Given the description of an element on the screen output the (x, y) to click on. 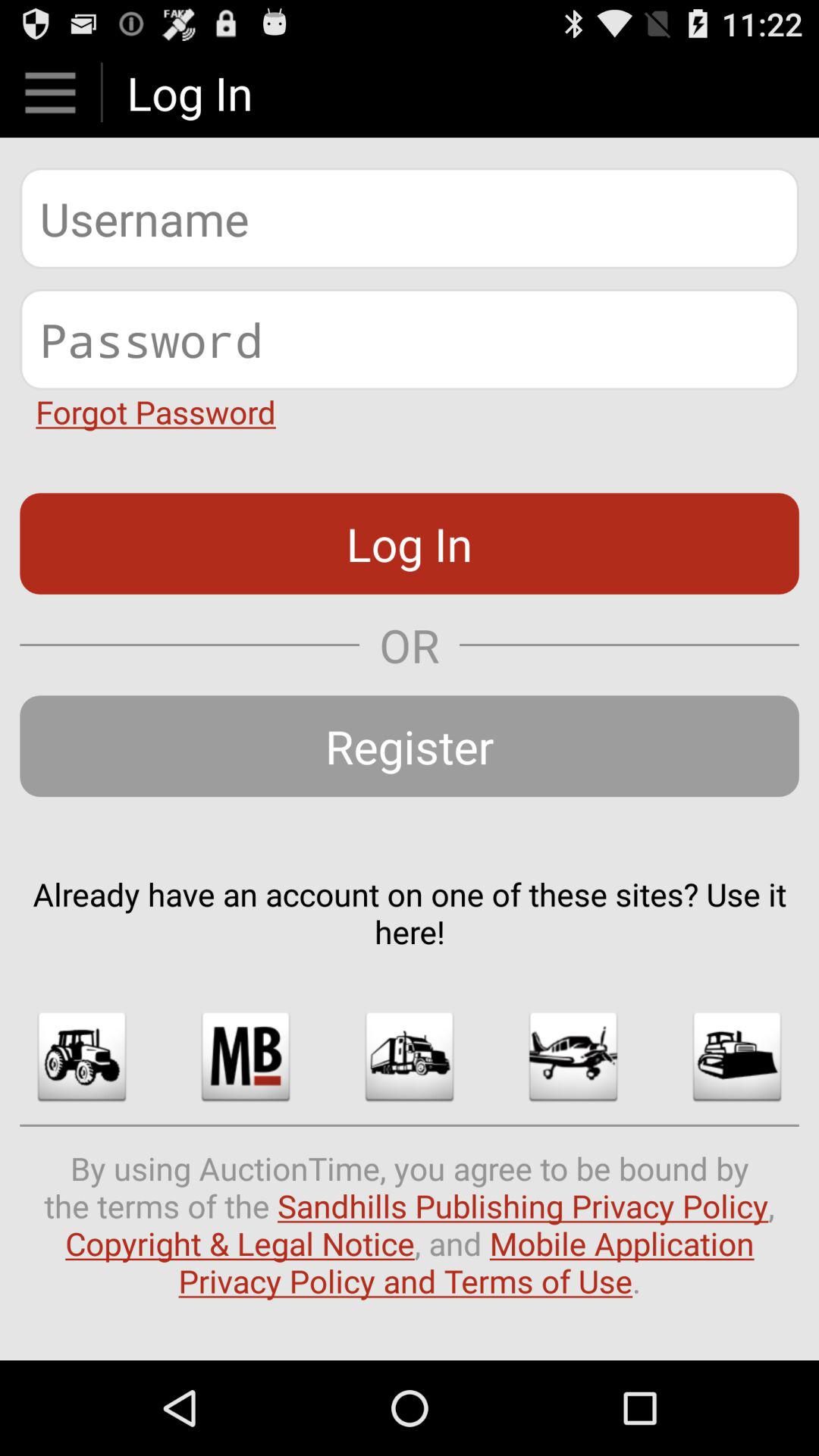
turn off the app below already have an app (737, 1056)
